Given the description of an element on the screen output the (x, y) to click on. 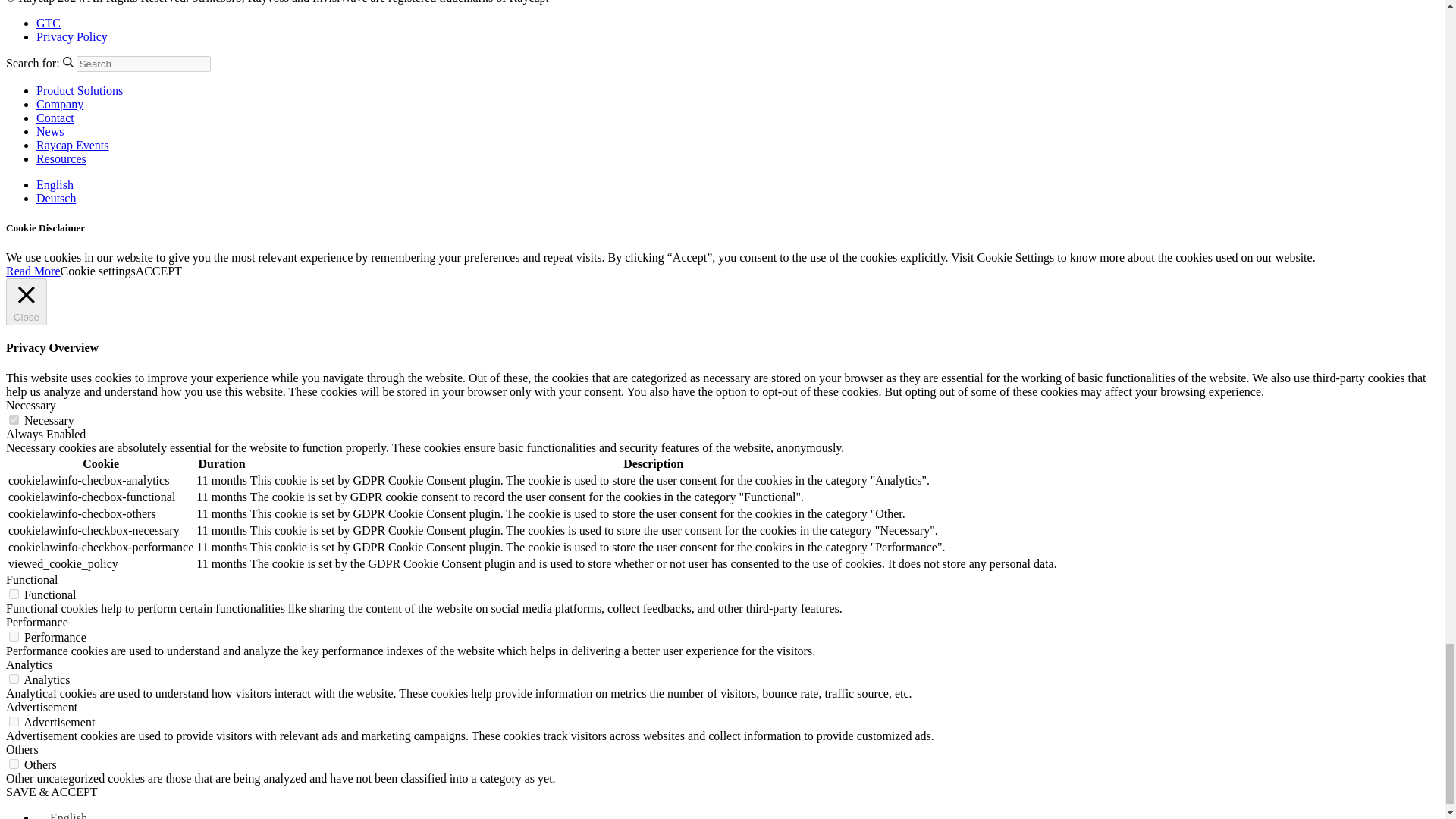
on (13, 678)
on (13, 721)
Fill 1 (68, 61)
on (13, 764)
on (13, 593)
on (13, 419)
on (13, 636)
